Given the description of an element on the screen output the (x, y) to click on. 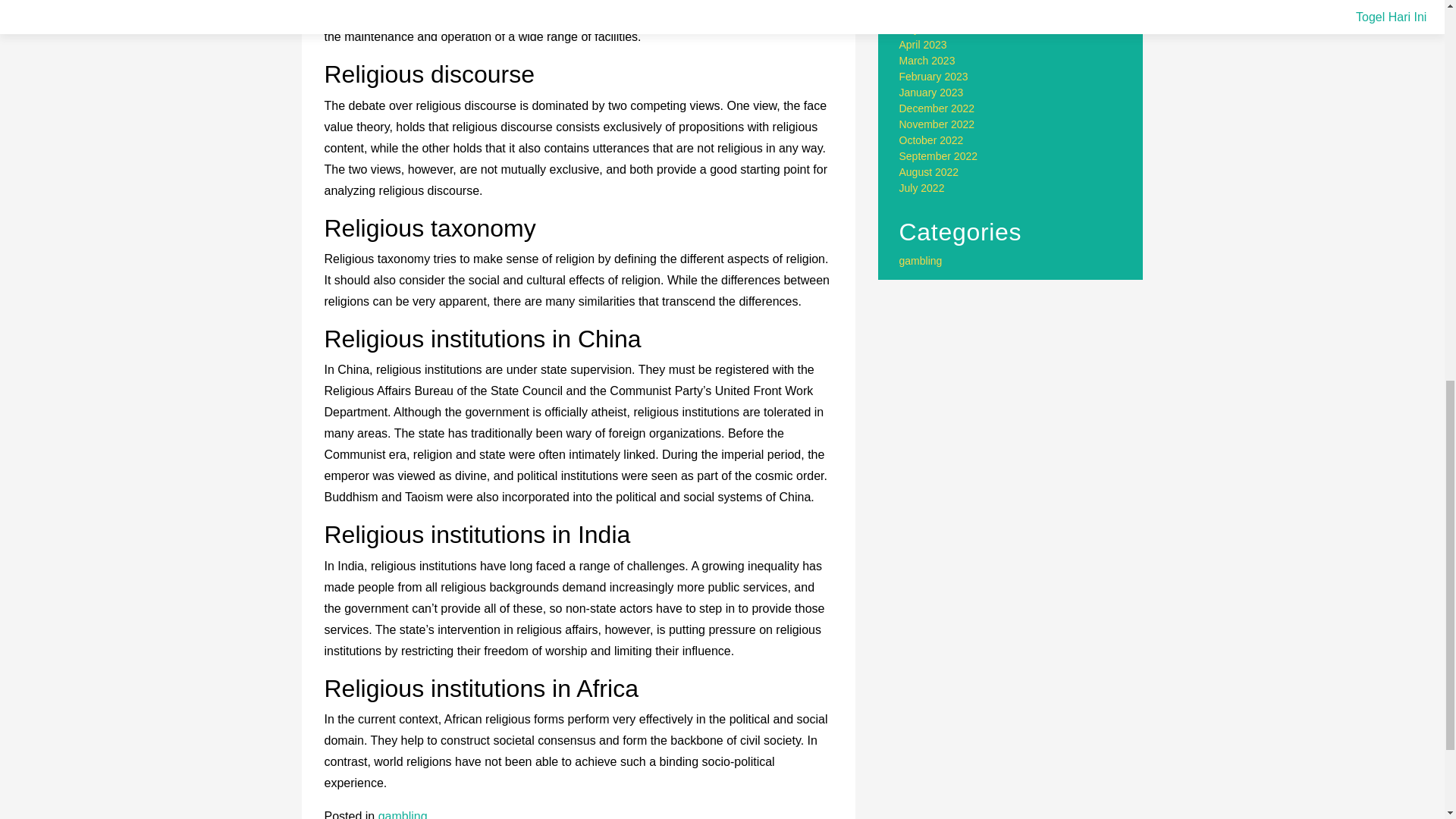
September 2022 (938, 155)
February 2023 (933, 76)
June 2023 (924, 12)
July 2023 (921, 1)
January 2023 (931, 92)
August 2022 (929, 172)
gambling (403, 814)
July 2022 (921, 187)
May 2023 (921, 28)
December 2022 (937, 108)
